Given the description of an element on the screen output the (x, y) to click on. 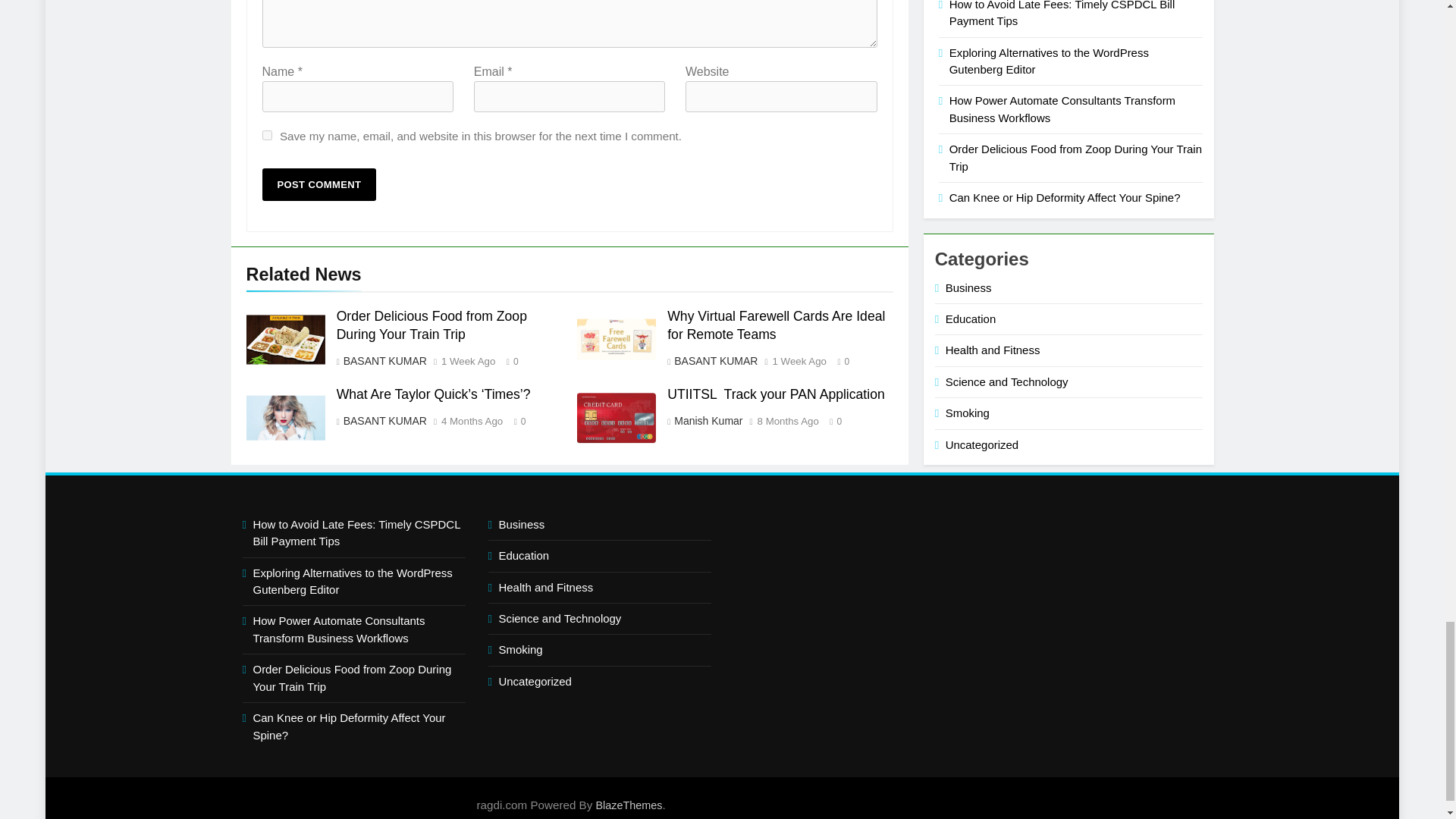
yes (267, 135)
Post Comment (319, 184)
